Given the description of an element on the screen output the (x, y) to click on. 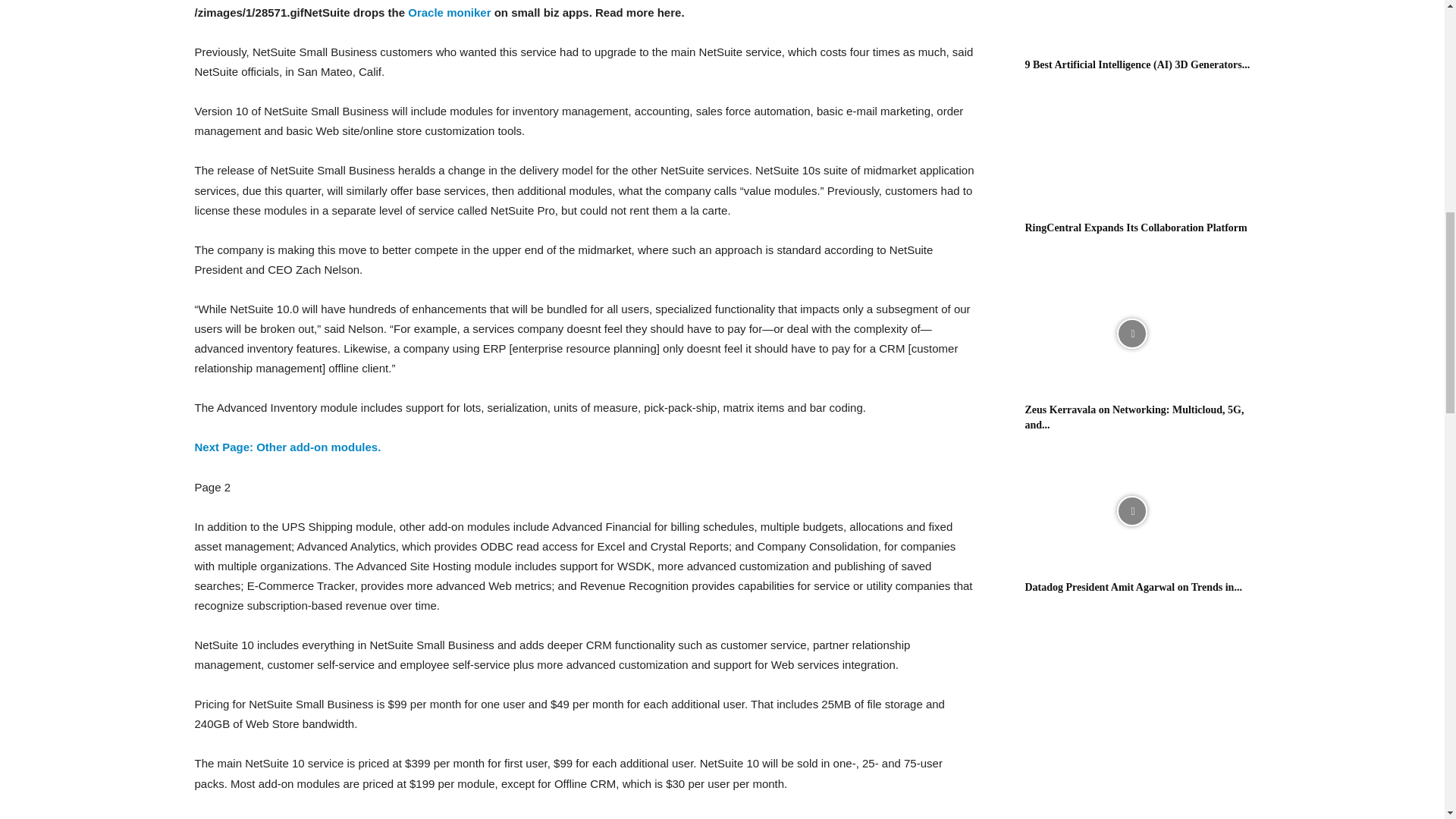
Zeus Kerravala on Networking: Multicloud, 5G, and Automation (1134, 417)
RingCentral Expands Its Collaboration Platform (1131, 151)
RingCentral Expands Its Collaboration Platform (1136, 227)
Zeus Kerravala on Networking: Multicloud, 5G, and Automation (1131, 333)
